Given the description of an element on the screen output the (x, y) to click on. 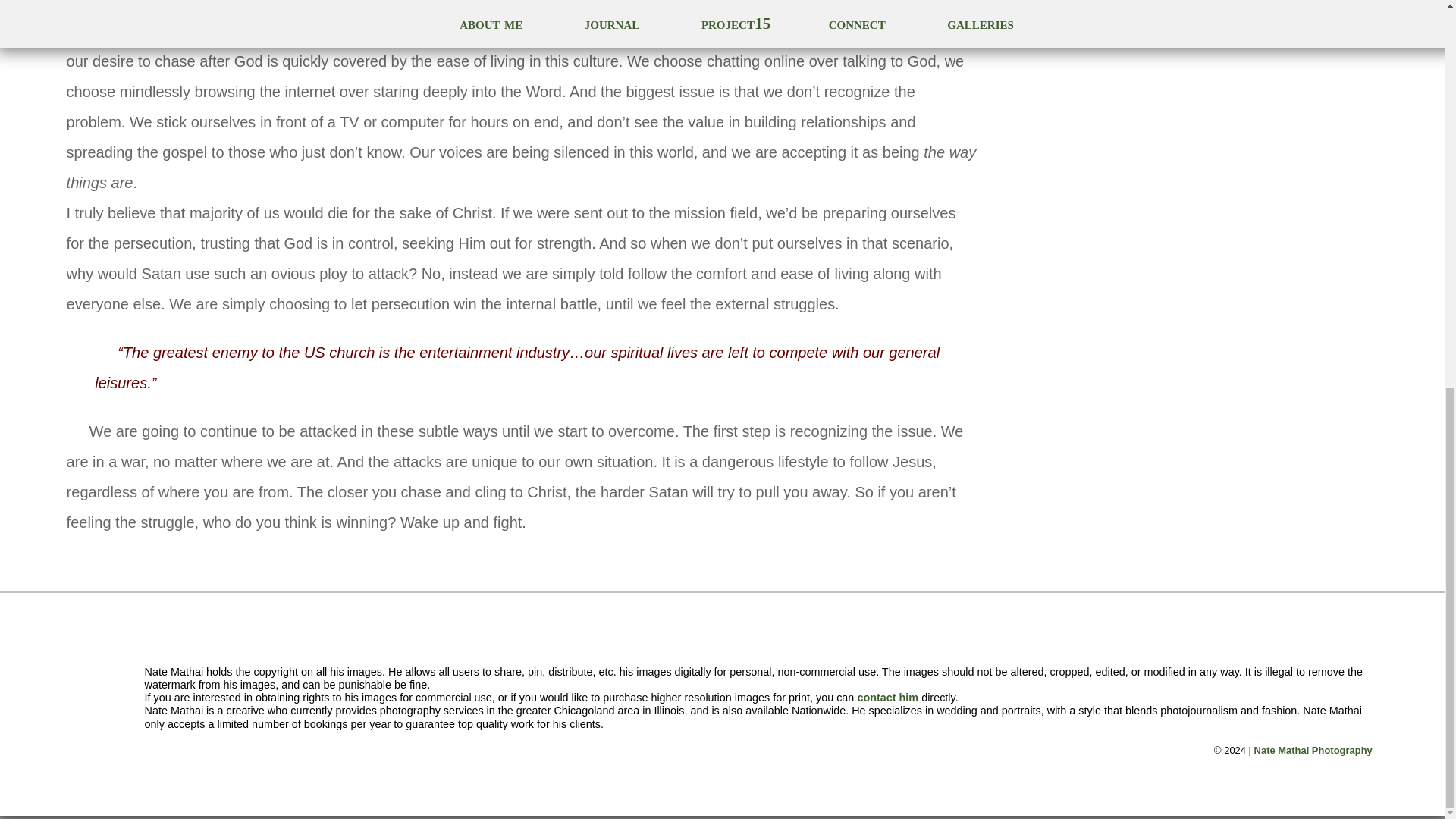
contact him (887, 697)
Nate Mathai Photography (1313, 749)
chicago wedding photographer (1313, 749)
